Given the description of an element on the screen output the (x, y) to click on. 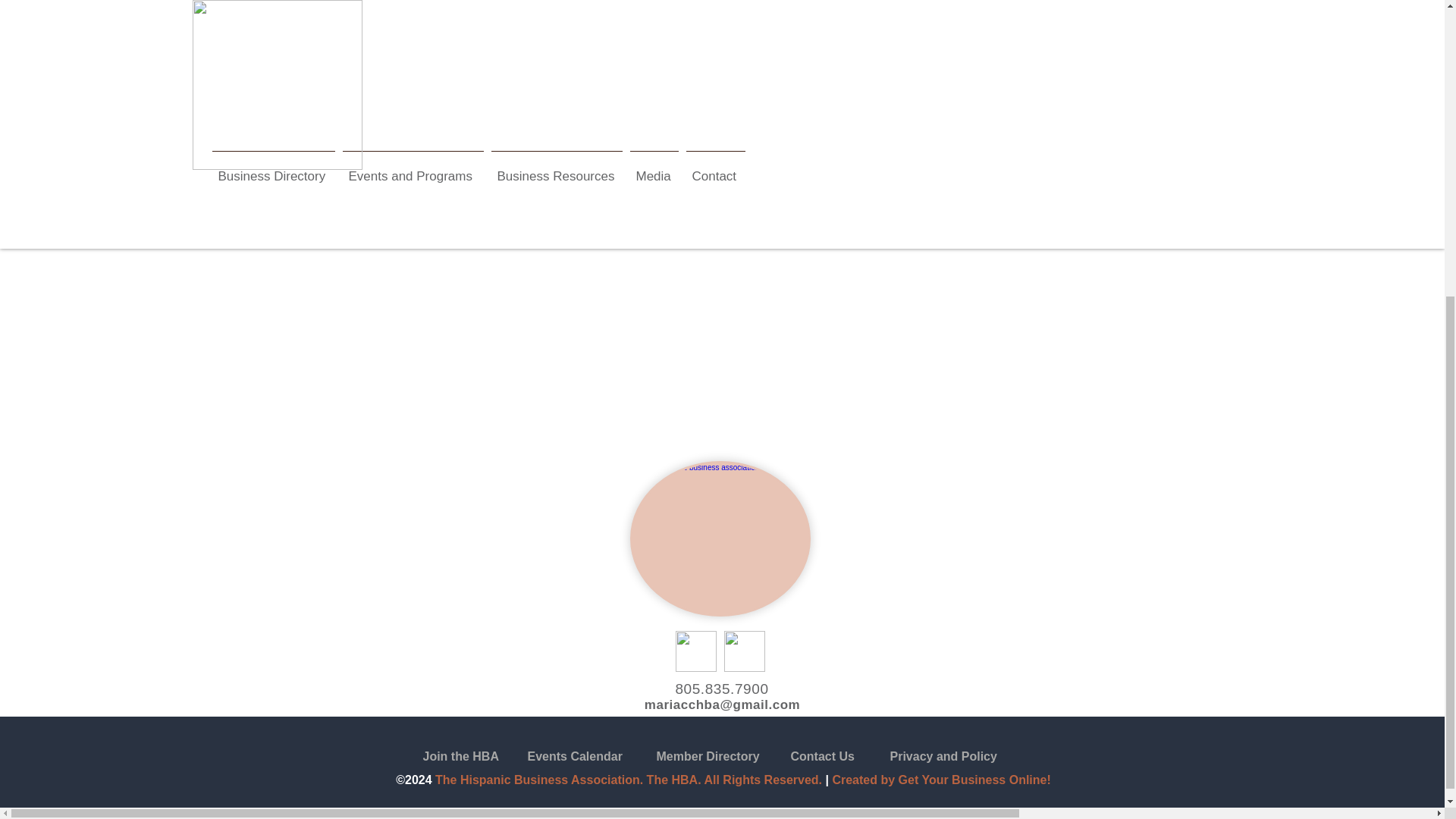
Contact Us (856, 756)
HBA Logo.png (718, 538)
Go to Homepage (423, 199)
Events Calendar (594, 756)
Member Directory (723, 756)
Join the HBA (489, 756)
Created by Get Your Business Online! (940, 779)
Privacy and Policy (956, 756)
